Given the description of an element on the screen output the (x, y) to click on. 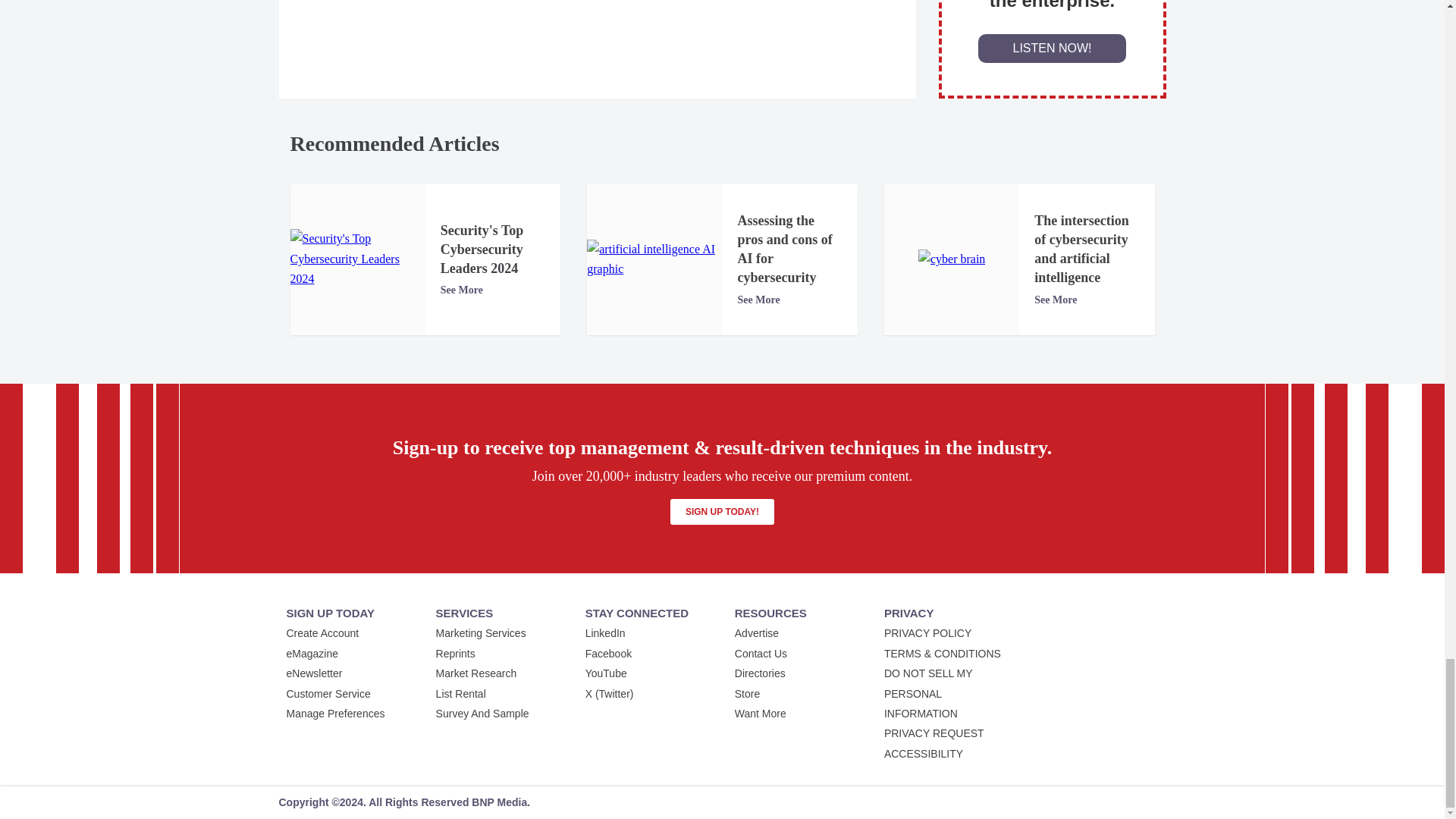
cyber brain (951, 259)
Security's Top Cybersecurity Leaders 2024 (357, 259)
Artificial Intelligence (654, 259)
